Given the description of an element on the screen output the (x, y) to click on. 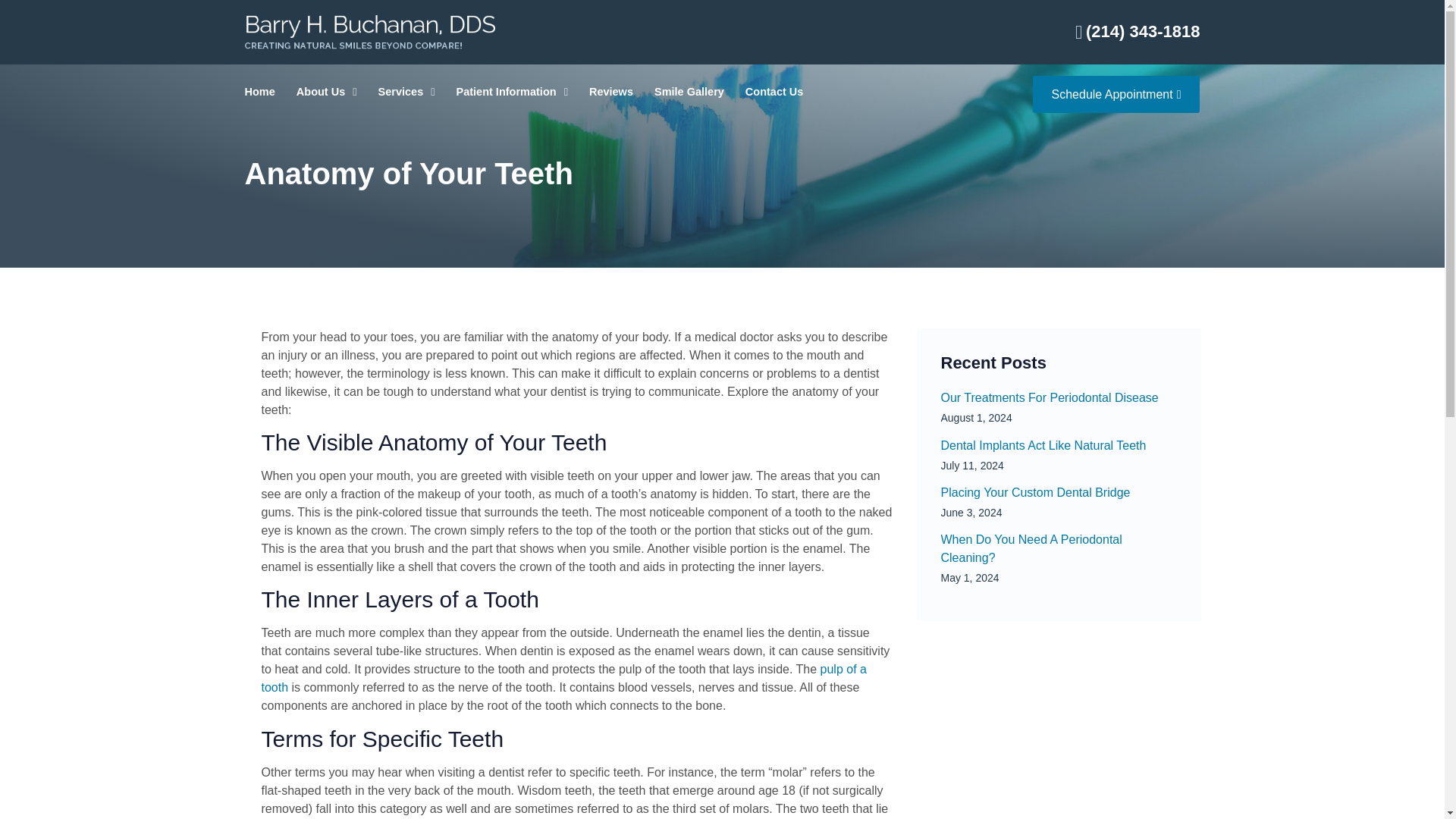
Reviews (611, 92)
Patient Information (512, 92)
Home (259, 92)
Services (406, 92)
About Us (326, 92)
